Given the description of an element on the screen output the (x, y) to click on. 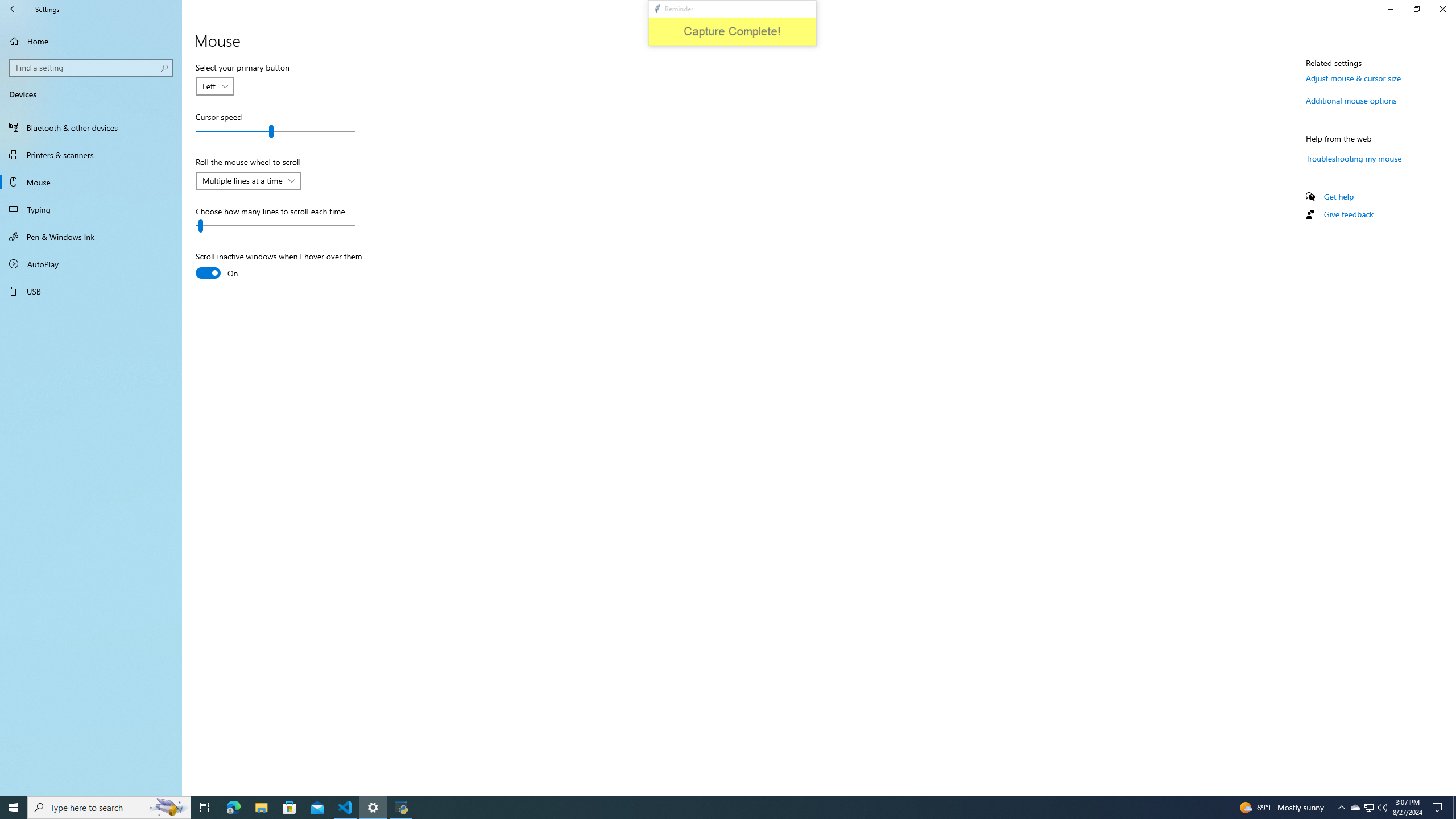
Restore Settings (1416, 9)
Cursor speed (275, 131)
Give feedback (1348, 213)
Running applications (717, 807)
File Explorer (261, 807)
Microsoft Edge (233, 807)
Back (13, 9)
Q2790: 100% (1382, 807)
Roll the mouse wheel to scroll (248, 180)
AutoPlay (91, 263)
Adjust mouse & cursor size (1353, 77)
Scroll inactive windows when I hover over them (278, 265)
Bluetooth & other devices (91, 126)
Search box, Find a setting (91, 67)
Multiple lines at a time (242, 180)
